Given the description of an element on the screen output the (x, y) to click on. 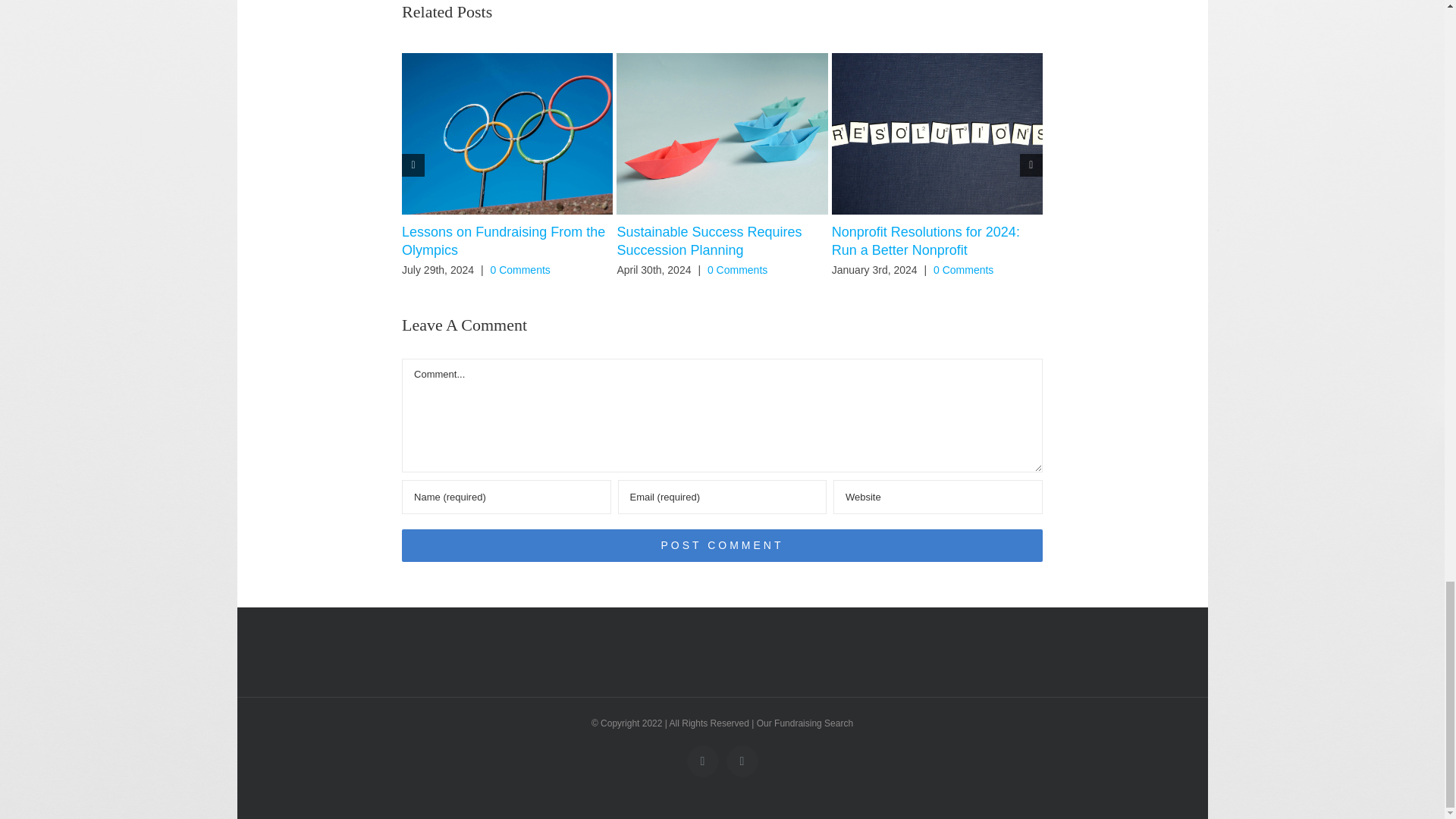
Sustainable Success Requires Succession Planning (708, 240)
Post Comment (721, 545)
